Given the description of an element on the screen output the (x, y) to click on. 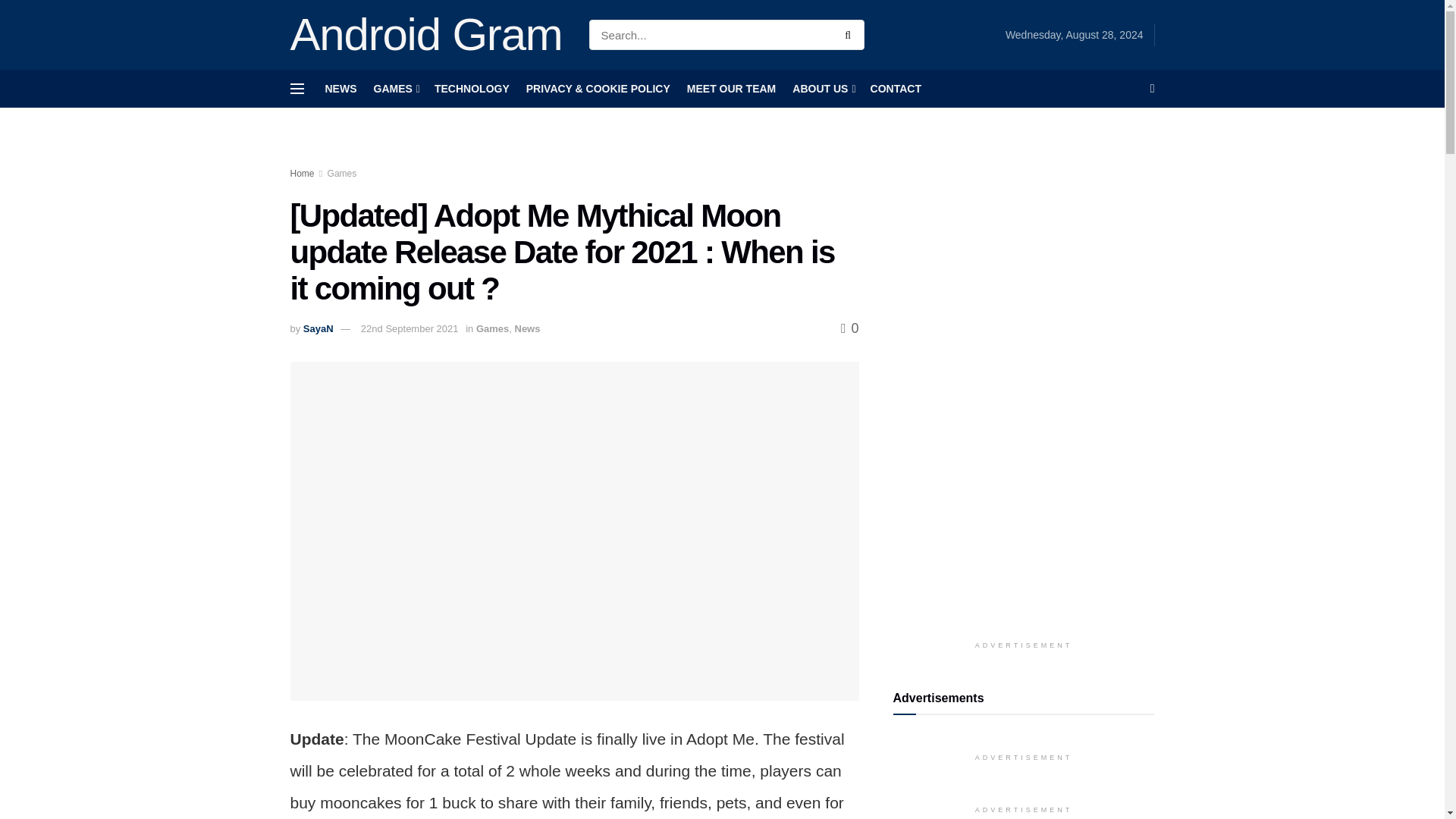
News (526, 328)
Home (301, 173)
Android Gram (425, 34)
TECHNOLOGY (471, 88)
ABOUT US (822, 88)
SayaN (317, 328)
Games (492, 328)
GAMES (394, 88)
MEET OUR TEAM (731, 88)
Games (341, 173)
